Given the description of an element on the screen output the (x, y) to click on. 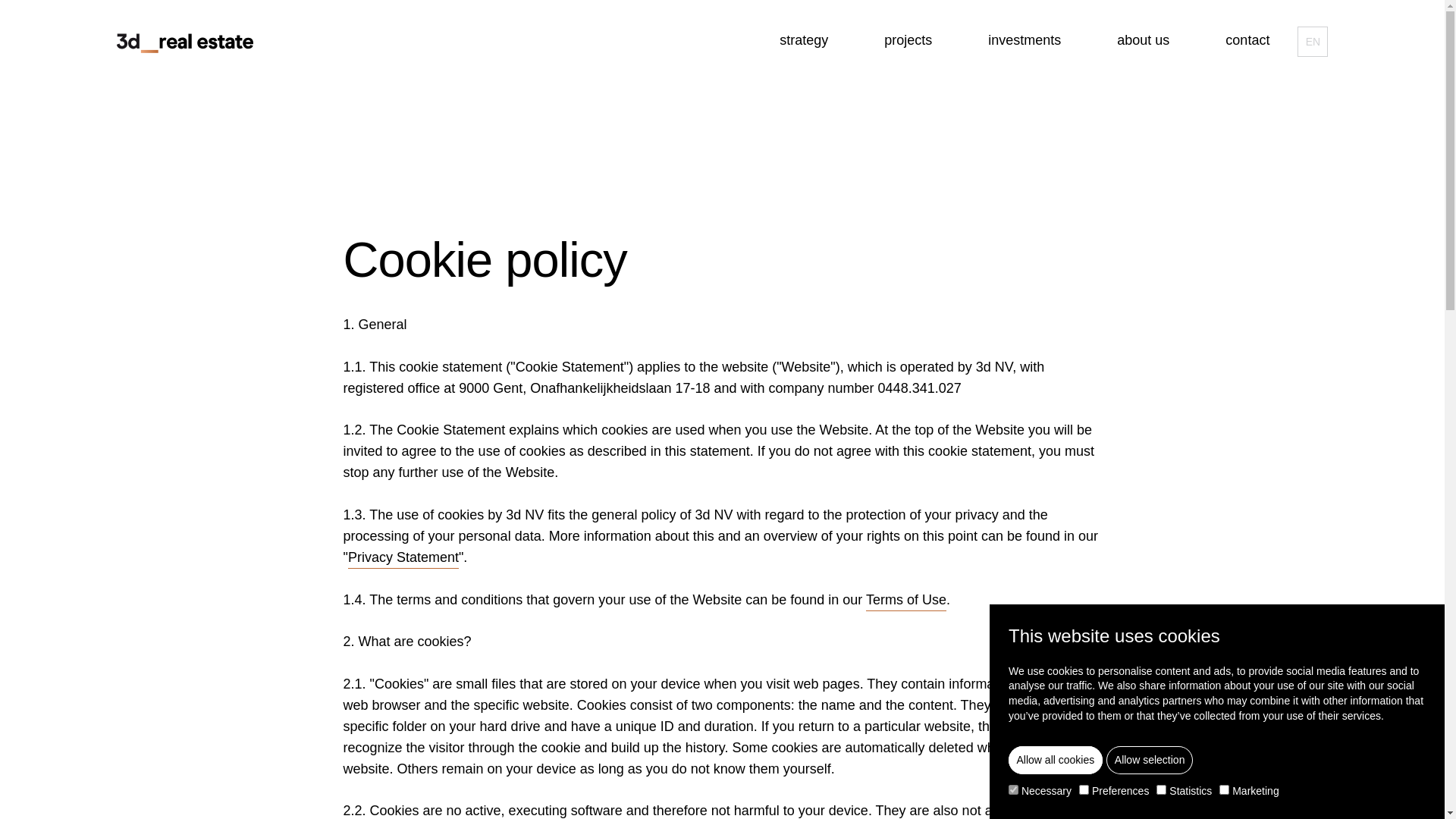
about us Element type: text (1143, 40)
Allow selection Element type: text (1149, 759)
Allow all cookies Element type: text (1055, 759)
Terms of Use Element type: text (906, 601)
Privacy Statement Element type: text (403, 558)
projects Element type: text (907, 40)
contact Element type: text (1247, 40)
investments Element type: text (1024, 40)
strategy Element type: text (803, 40)
